Given the description of an element on the screen output the (x, y) to click on. 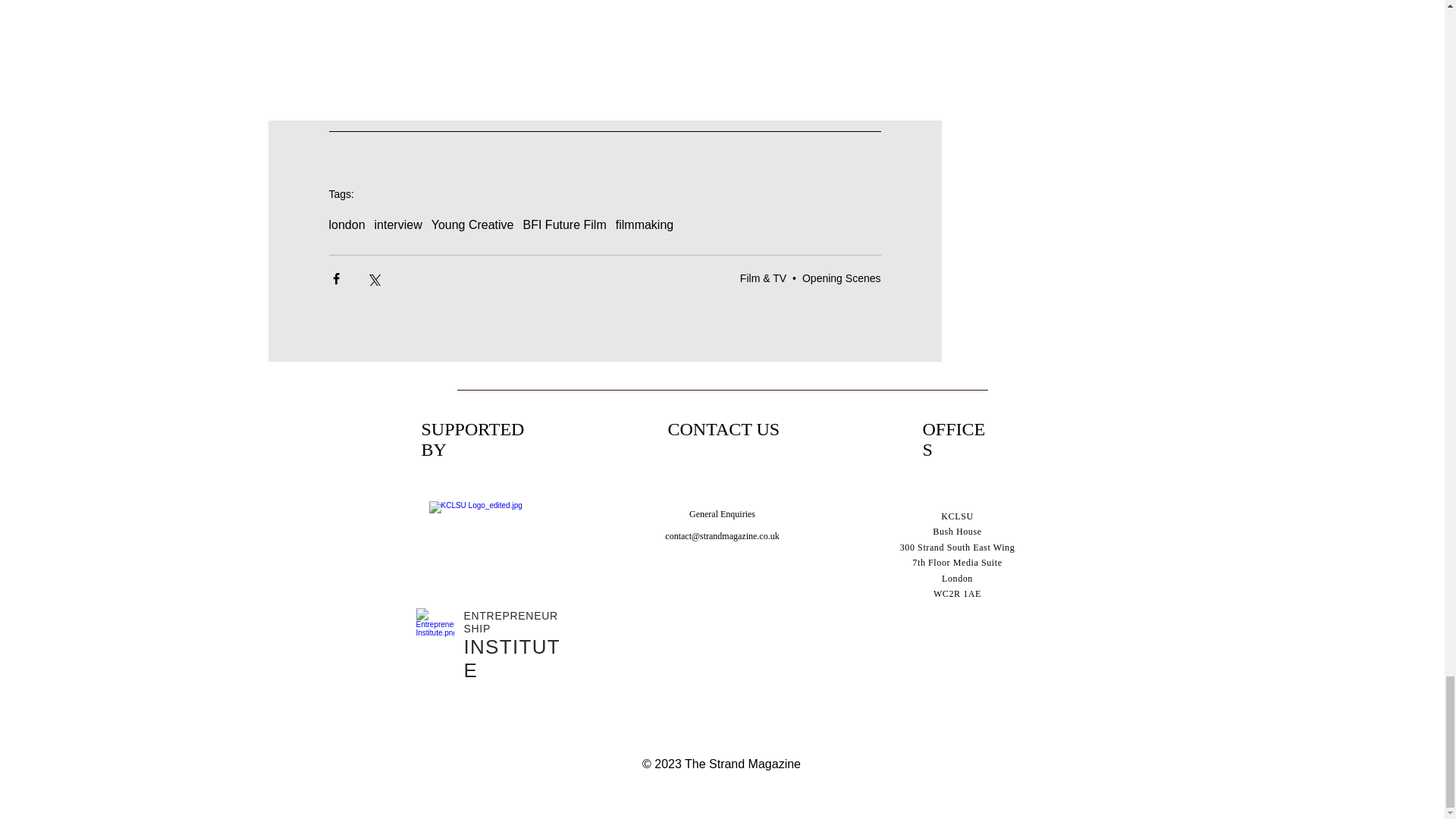
Opening Scenes (841, 277)
Young Creative (471, 224)
filmmaking (643, 224)
interview (398, 224)
BFI Future Film (564, 224)
london (347, 224)
YouTube channel (576, 70)
Instagram (721, 70)
